Given the description of an element on the screen output the (x, y) to click on. 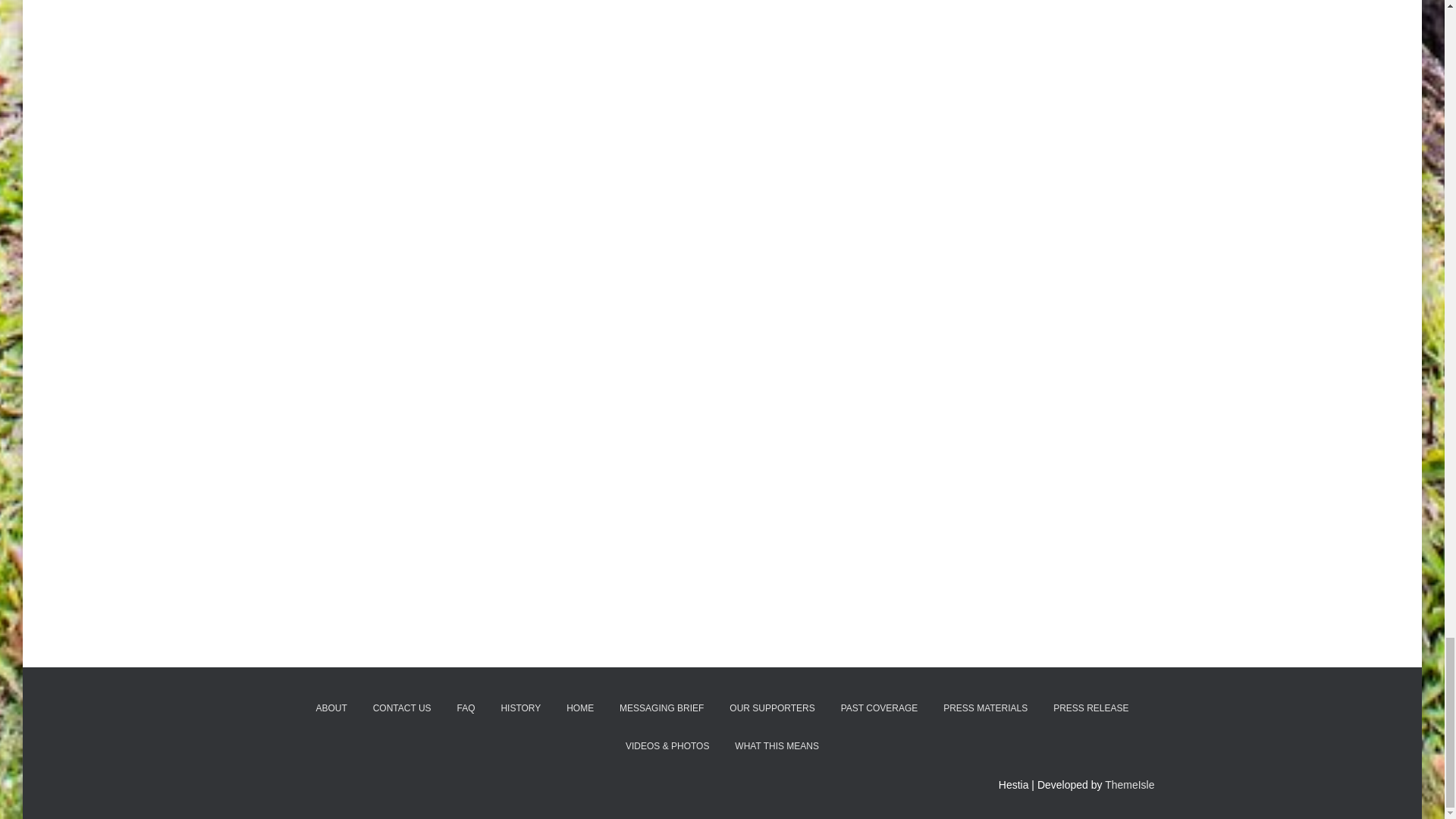
HOME (579, 708)
MESSAGING BRIEF (661, 708)
HISTORY (520, 708)
ABOUT (331, 708)
ThemeIsle (1129, 784)
PRESS MATERIALS (985, 708)
WHAT THIS MEANS (776, 746)
FAQ (465, 708)
OUR SUPPORTERS (771, 708)
CONTACT US (401, 708)
PRESS RELEASE (1091, 708)
PAST COVERAGE (879, 708)
